Given the description of an element on the screen output the (x, y) to click on. 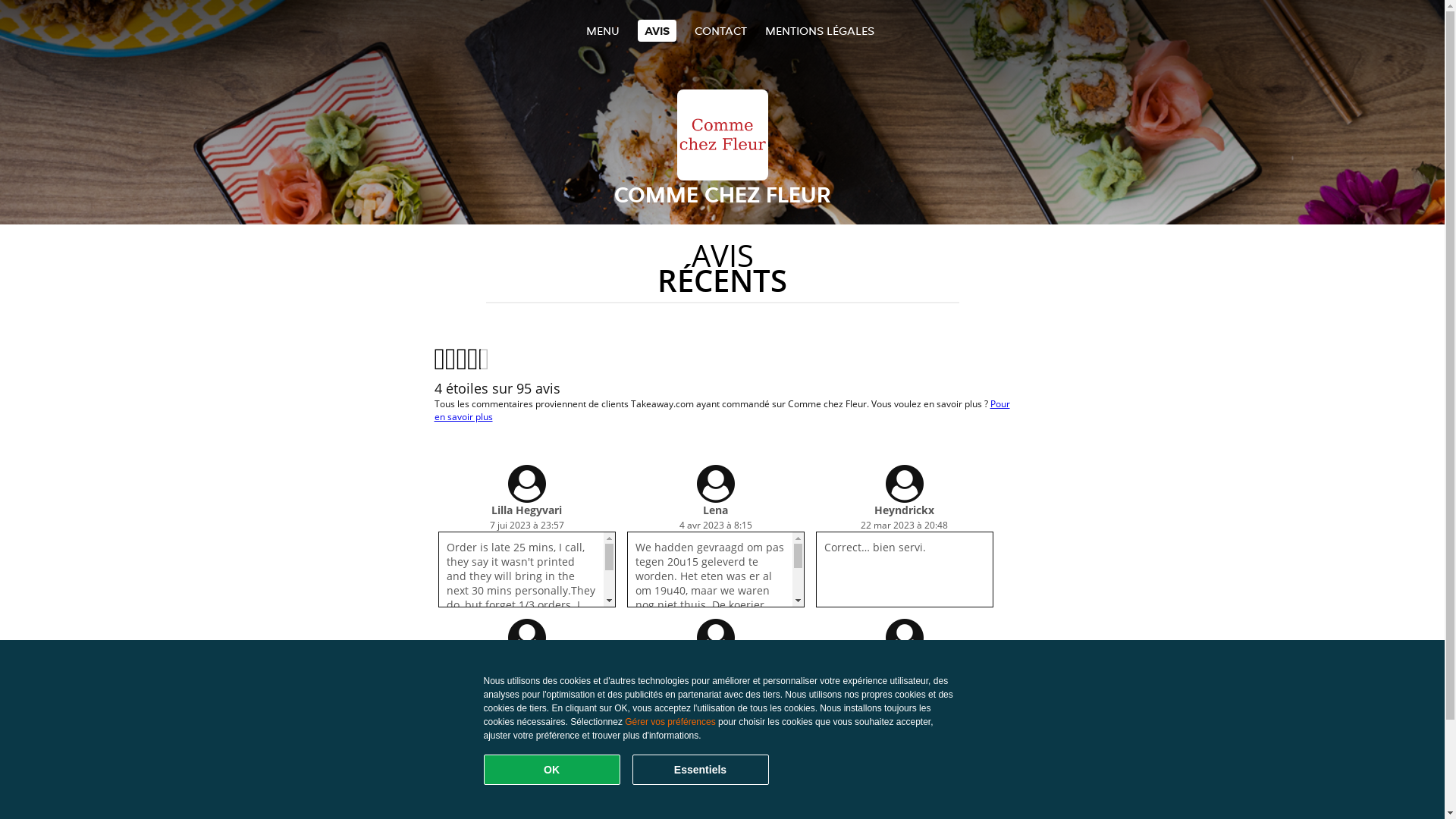
AVIS Element type: text (656, 30)
Pour en savoir plus Element type: text (721, 410)
Essentiels Element type: text (700, 769)
OK Element type: text (551, 769)
CONTACT Element type: text (720, 30)
MENU Element type: text (601, 30)
